Given the description of an element on the screen output the (x, y) to click on. 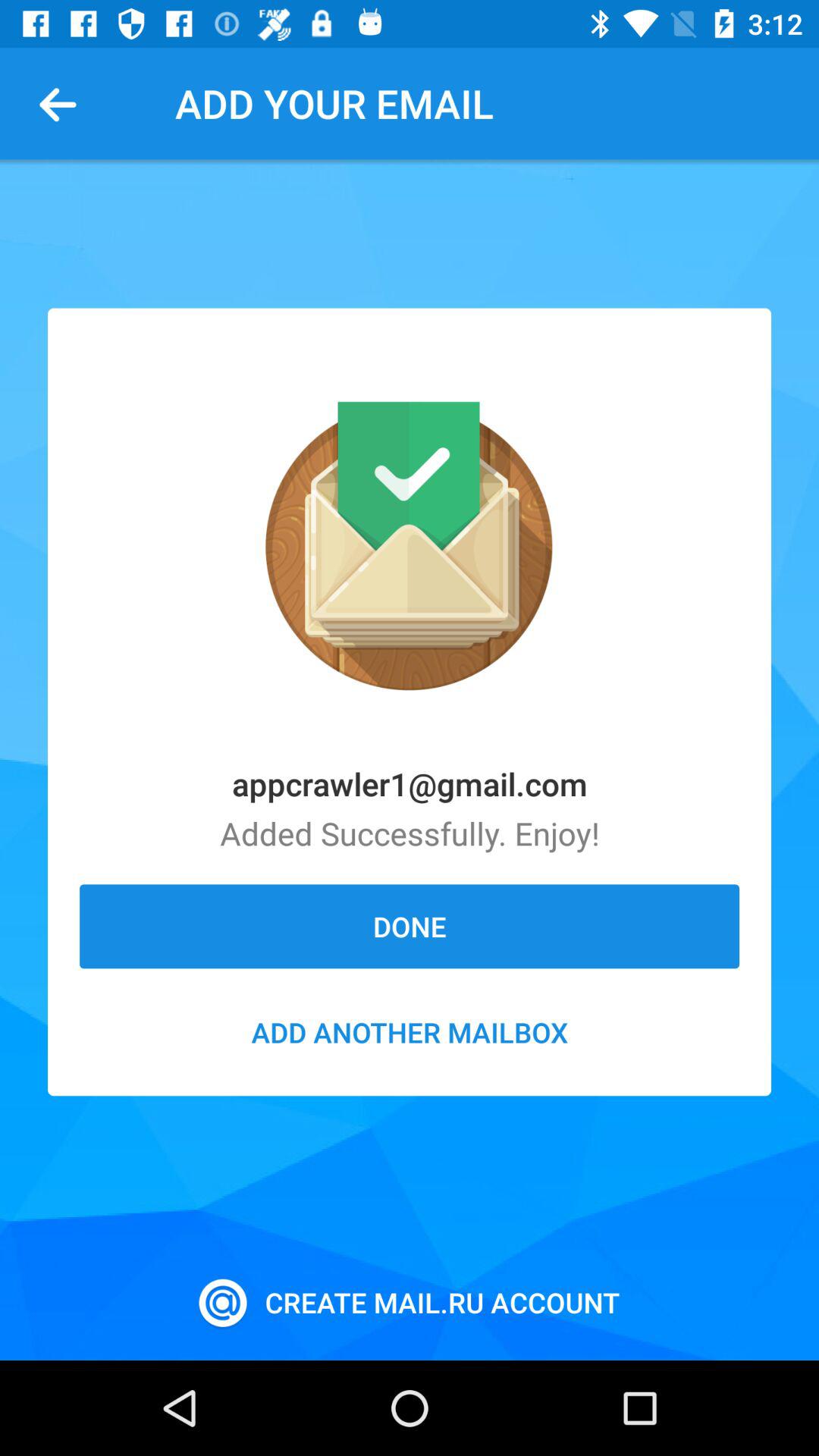
open the icon at the top left corner (63, 103)
